Given the description of an element on the screen output the (x, y) to click on. 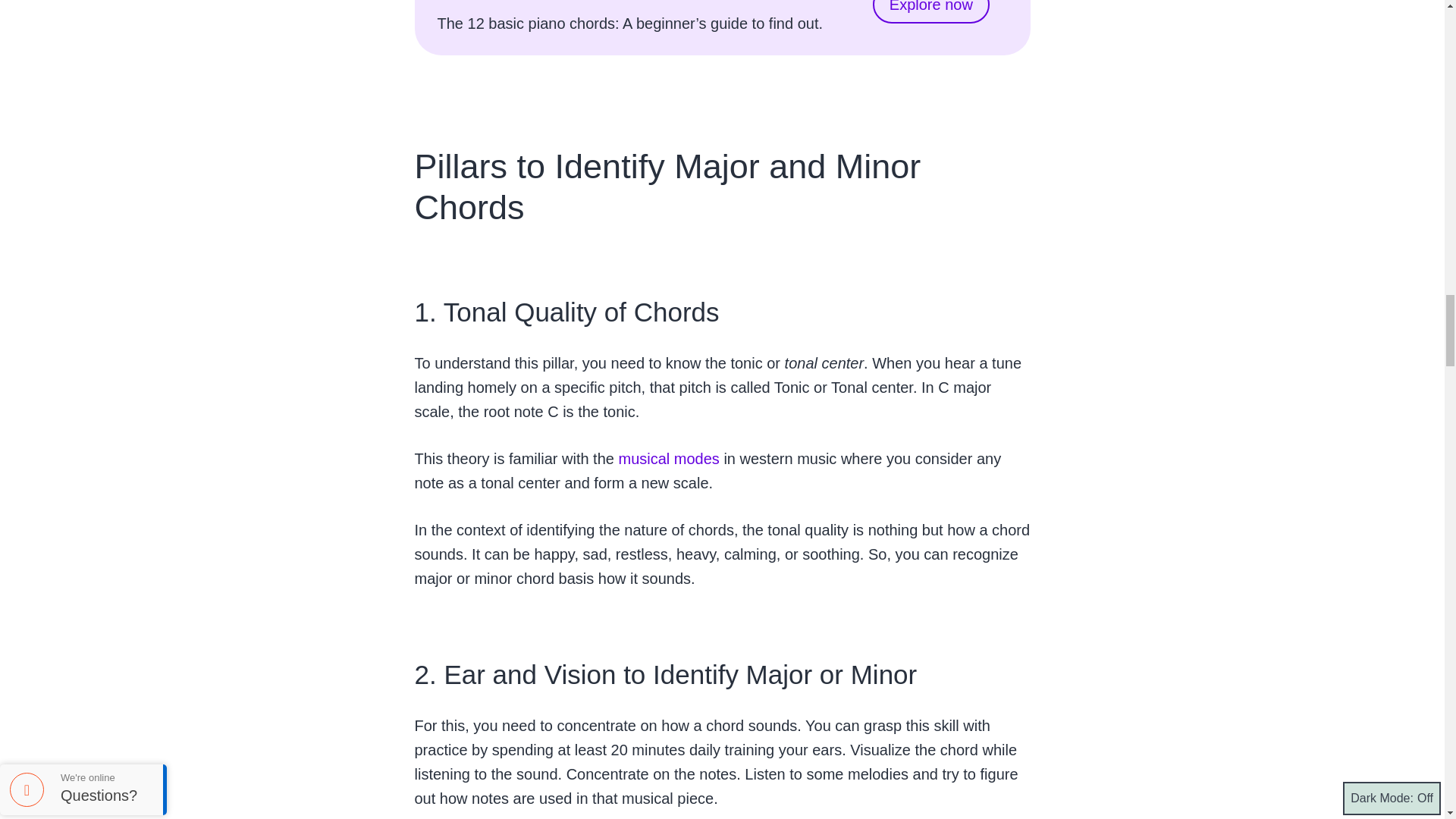
musical modes (666, 458)
Explore now (931, 11)
